Given the description of an element on the screen output the (x, y) to click on. 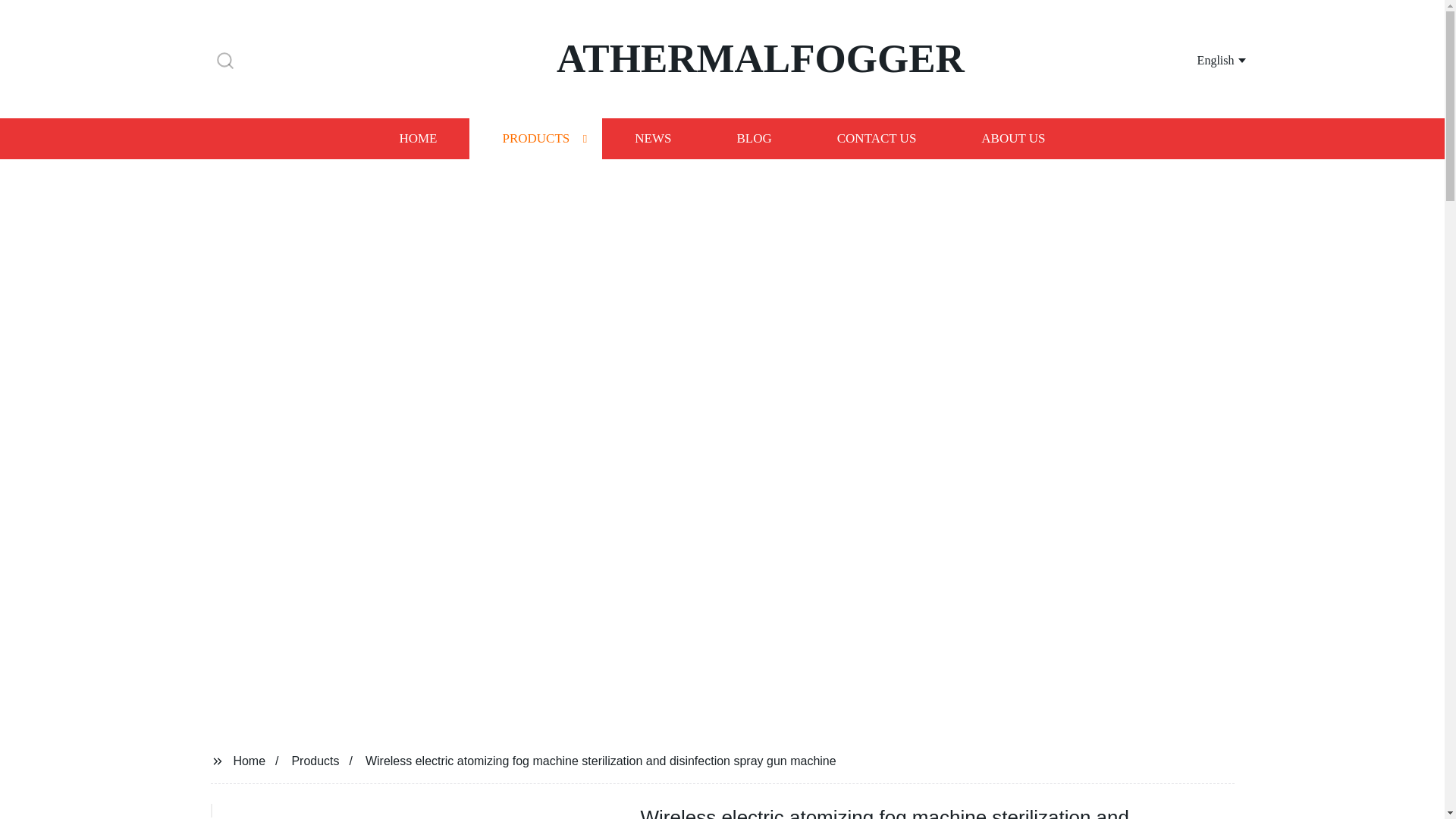
English (1203, 59)
ABOUT US (1013, 137)
BLOG (753, 137)
PRODUCTS (535, 137)
HOME (417, 137)
Products (315, 759)
CONTACT US (877, 137)
NEWS (652, 137)
Home (248, 759)
English (1203, 59)
